Given the description of an element on the screen output the (x, y) to click on. 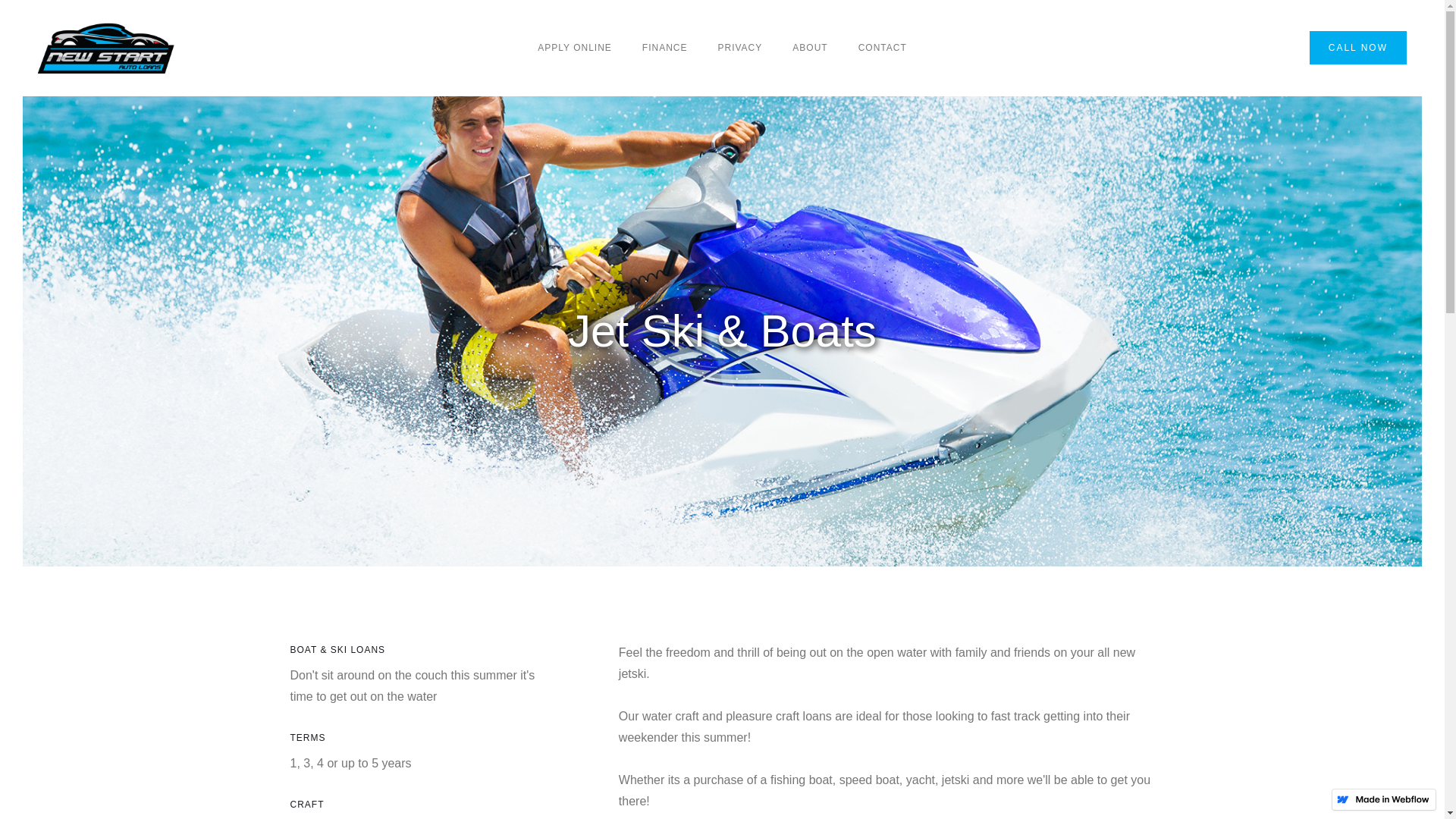
CALL NOW Element type: text (1357, 47)
CONTACT Element type: text (882, 47)
PRIVACY Element type: text (739, 47)
ABOUT Element type: text (809, 47)
APPLY ONLINE Element type: text (574, 47)
FINANCE Element type: text (664, 47)
